Given the description of an element on the screen output the (x, y) to click on. 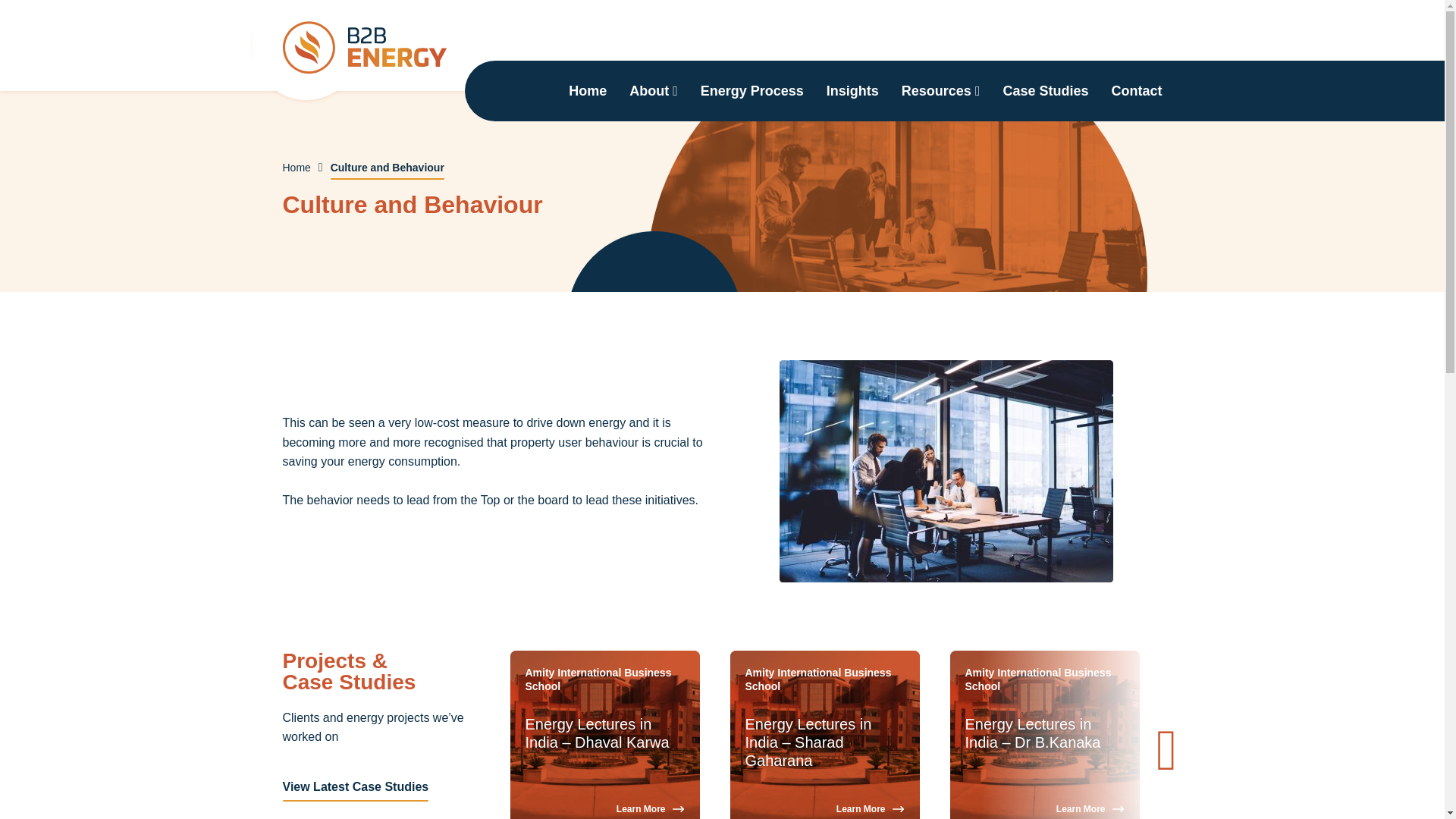
Resources (940, 90)
Energy Process (751, 90)
Contact (1130, 90)
View Latest Case Studies (355, 787)
B2B Energy Ltd (365, 47)
Previous (499, 750)
Insights (852, 90)
Go to B2B Energy Ltd. (296, 167)
About (652, 90)
Home (296, 167)
